Given the description of an element on the screen output the (x, y) to click on. 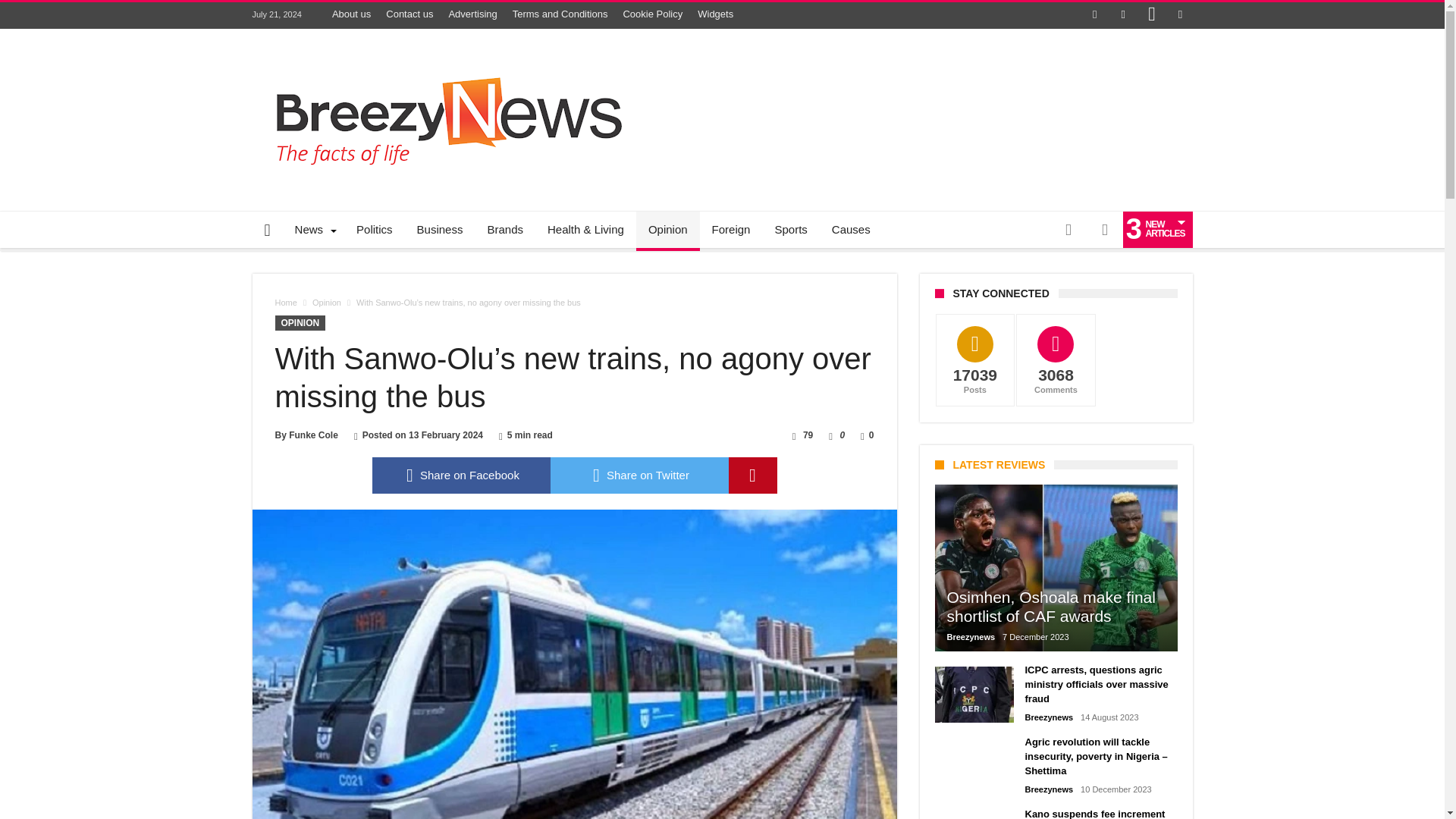
Politics (373, 229)
instagram (1151, 15)
Facebook (1094, 15)
I like this article (830, 434)
Terms and Conditions (560, 14)
Twitter (1122, 15)
Breezy News Nigeria (440, 50)
pinterest (752, 475)
Contact us (409, 14)
Business (440, 229)
Advertising (472, 14)
About us (351, 14)
facebook (460, 475)
Cookie Policy (652, 14)
Brands (504, 229)
